Given the description of an element on the screen output the (x, y) to click on. 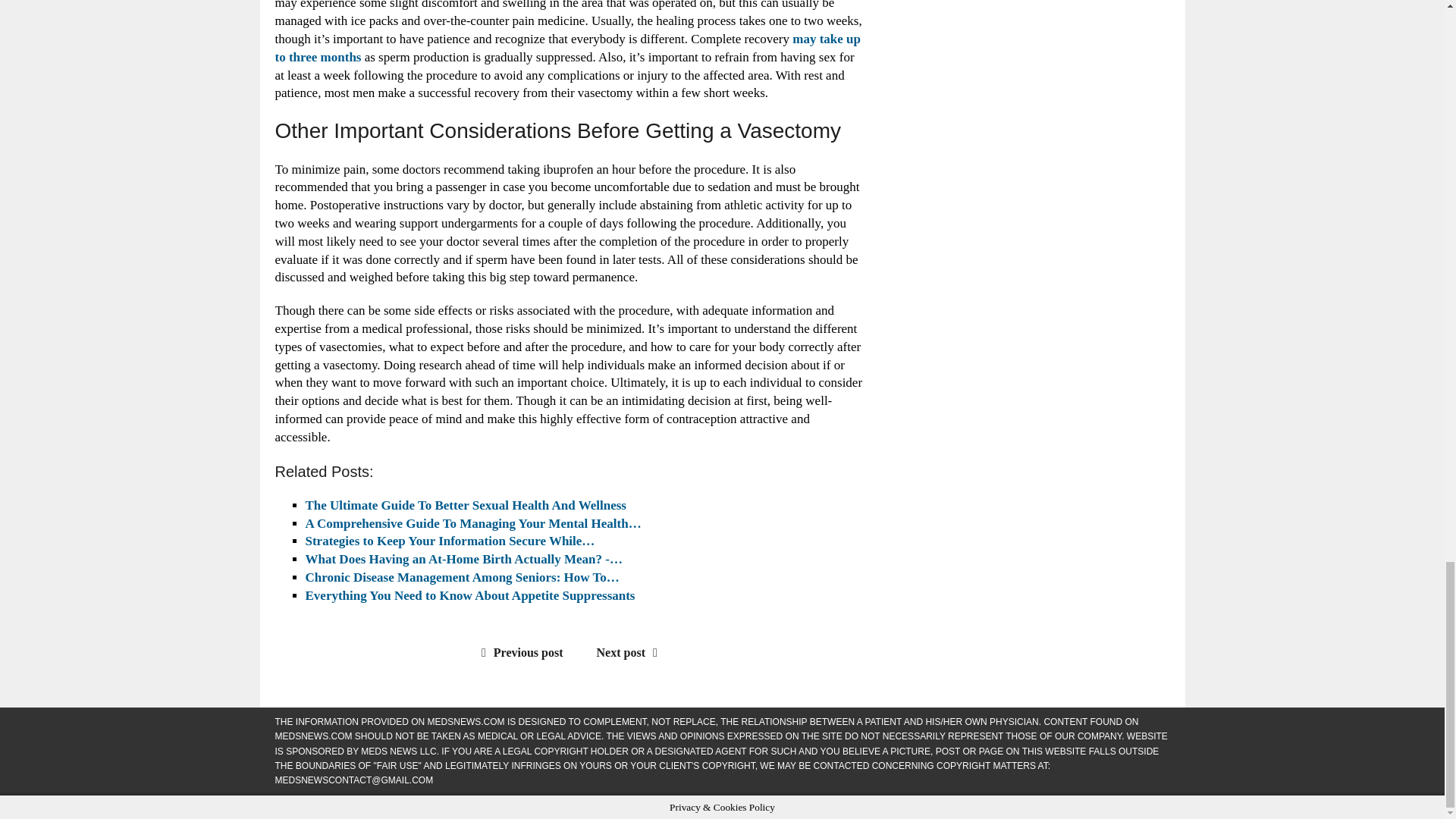
The Ultimate Guide To Better Sexual Health And Wellness (465, 504)
Previous post (518, 652)
Next post (630, 652)
Everything You Need to Know About Appetite Suppressants (469, 595)
may take up to three months (567, 47)
